Given the description of an element on the screen output the (x, y) to click on. 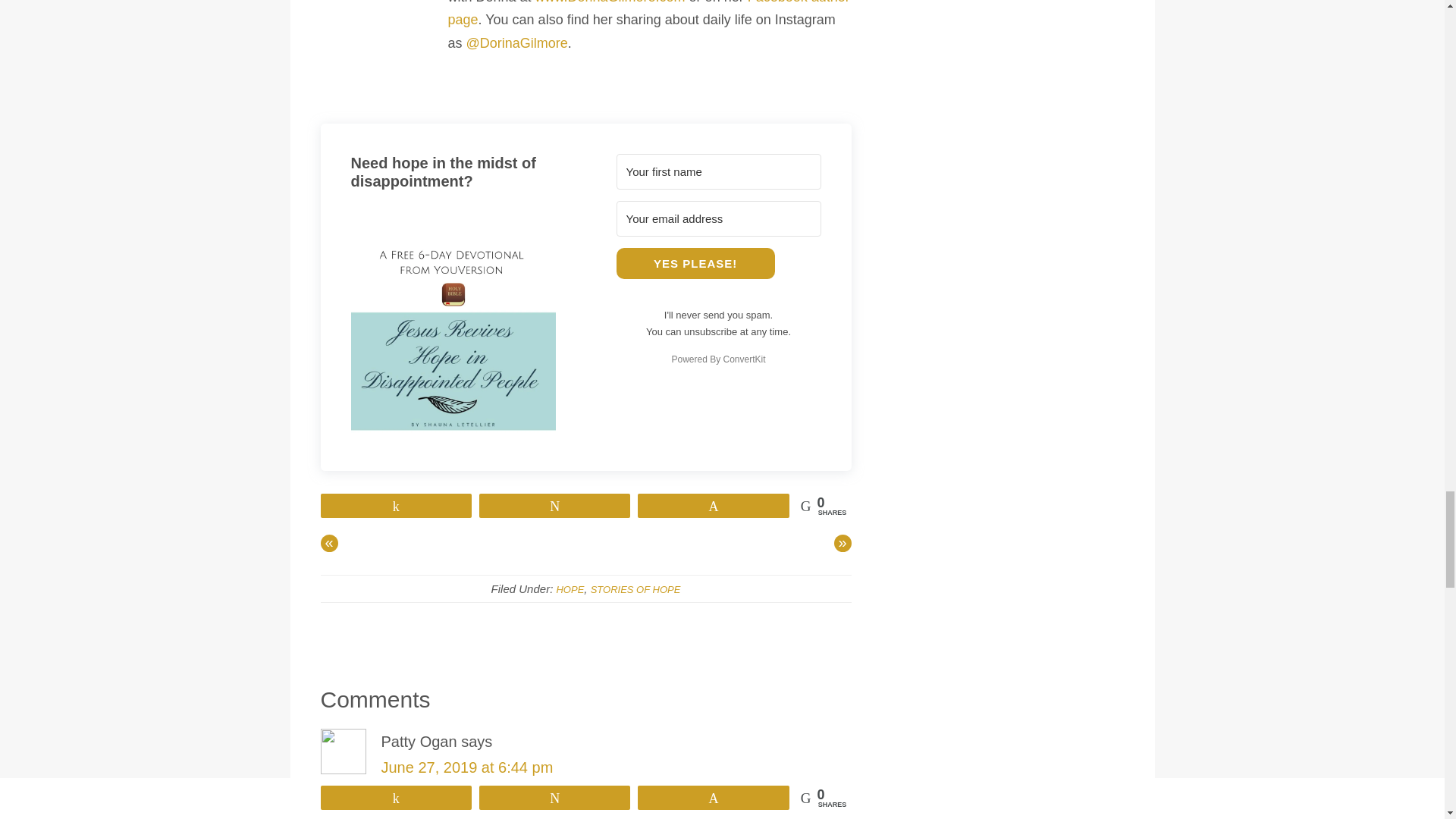
June 27, 2019 at 6:44 pm (466, 767)
Next Post: When Your Hope Gets Hijacked (842, 543)
     YES PLEASE!      (694, 263)
STORIES OF HOPE (636, 589)
Previous Post: Hope in Any Language (328, 543)
Powered By ConvertKit (718, 359)
Facebook author page (647, 13)
www.DorinaGilmore.com (610, 2)
HOPE (569, 589)
